Given the description of an element on the screen output the (x, y) to click on. 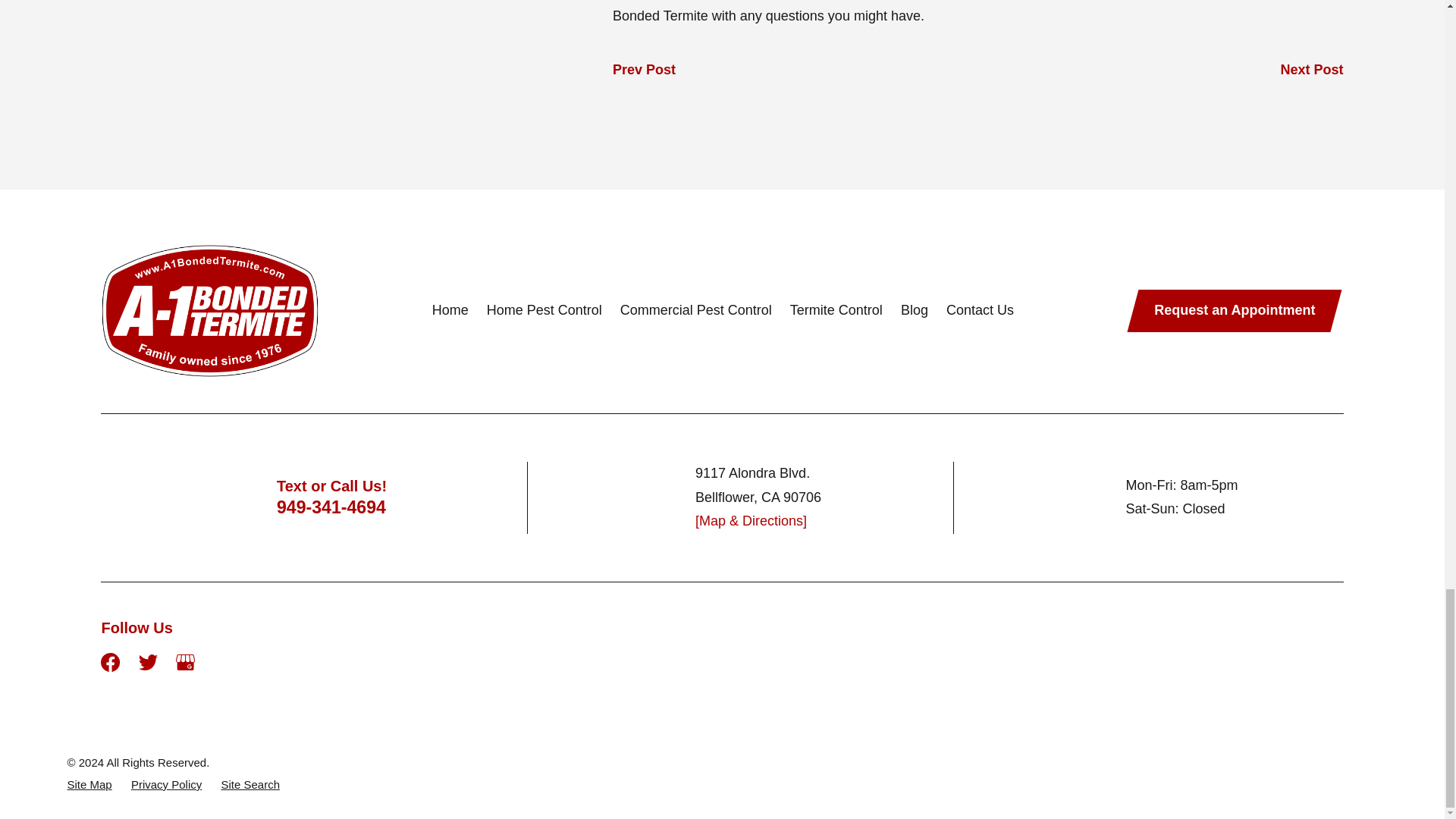
Home (209, 310)
Google Business Profile (185, 661)
Facebook (109, 661)
Twitter (147, 661)
